Given the description of an element on the screen output the (x, y) to click on. 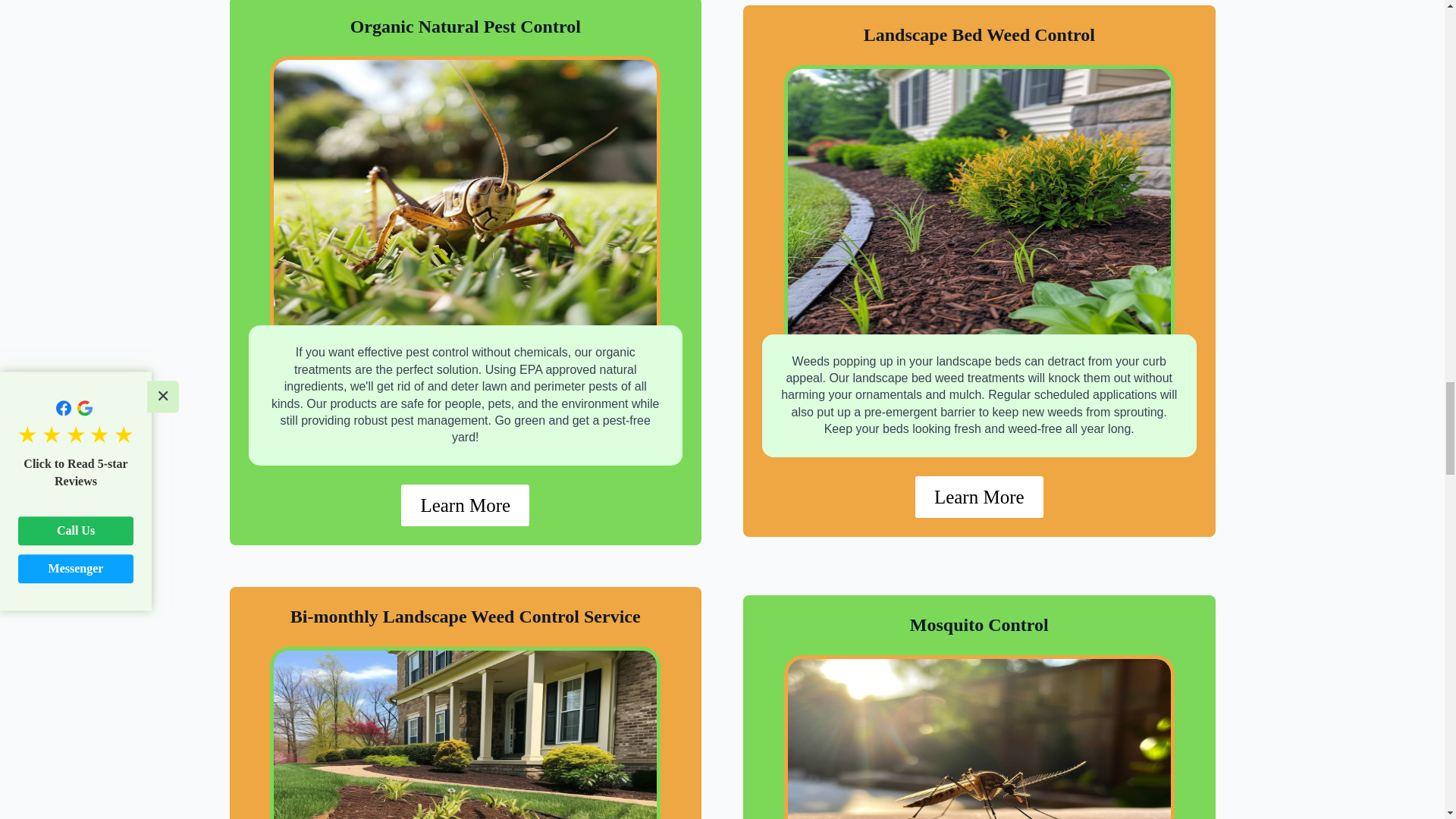
Learn More (465, 505)
Learn More (979, 496)
